Given the description of an element on the screen output the (x, y) to click on. 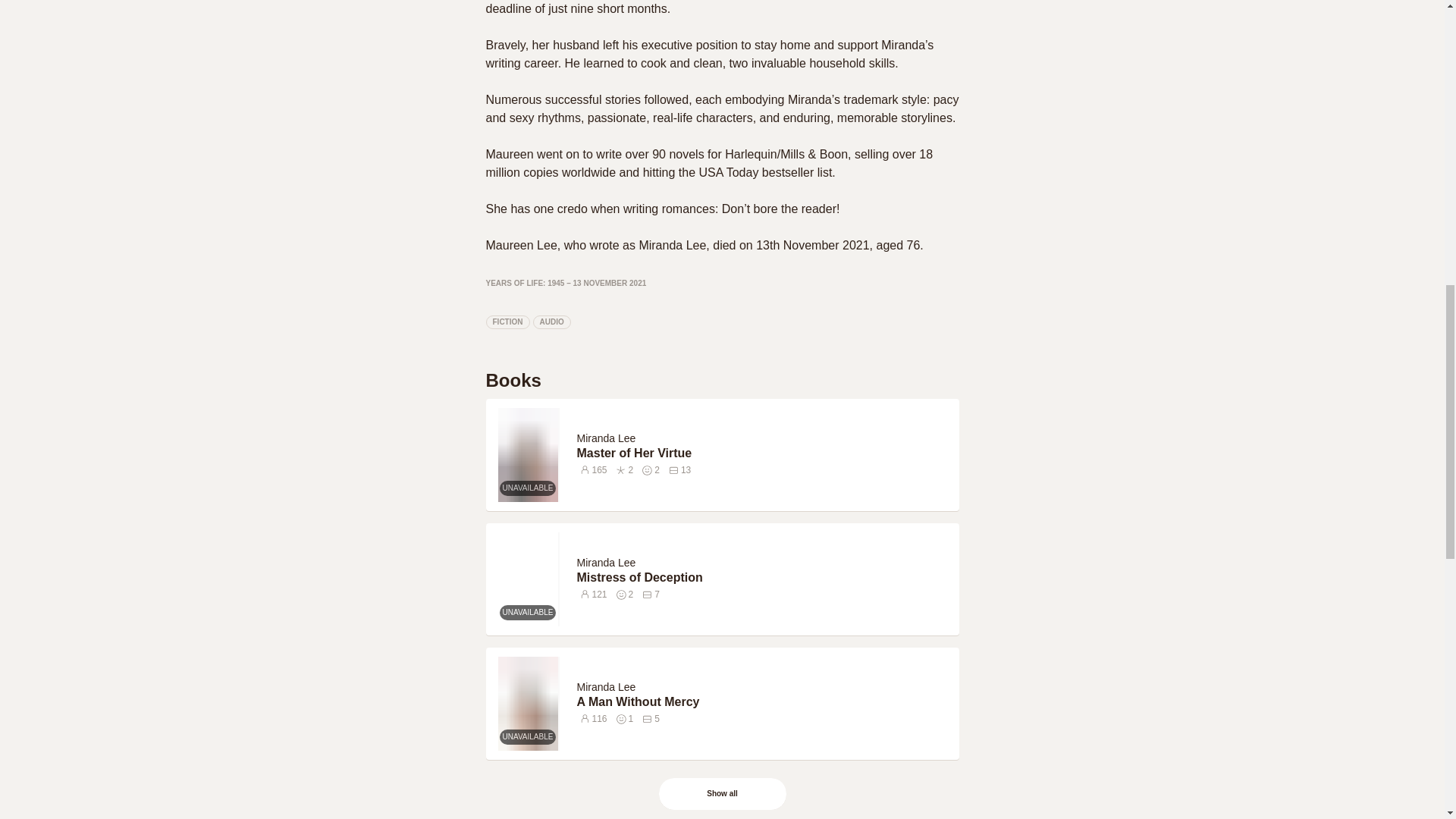
Mistress of Deception (764, 577)
A Man Without Mercy (764, 702)
Miranda Lee (605, 438)
Master of Her Virtue (764, 453)
A Man Without Mercy (764, 702)
Miranda Lee (605, 562)
Miranda Lee (605, 686)
Miranda Lee (608, 437)
Master of Her Virtue (764, 453)
Show all (722, 793)
